Given the description of an element on the screen output the (x, y) to click on. 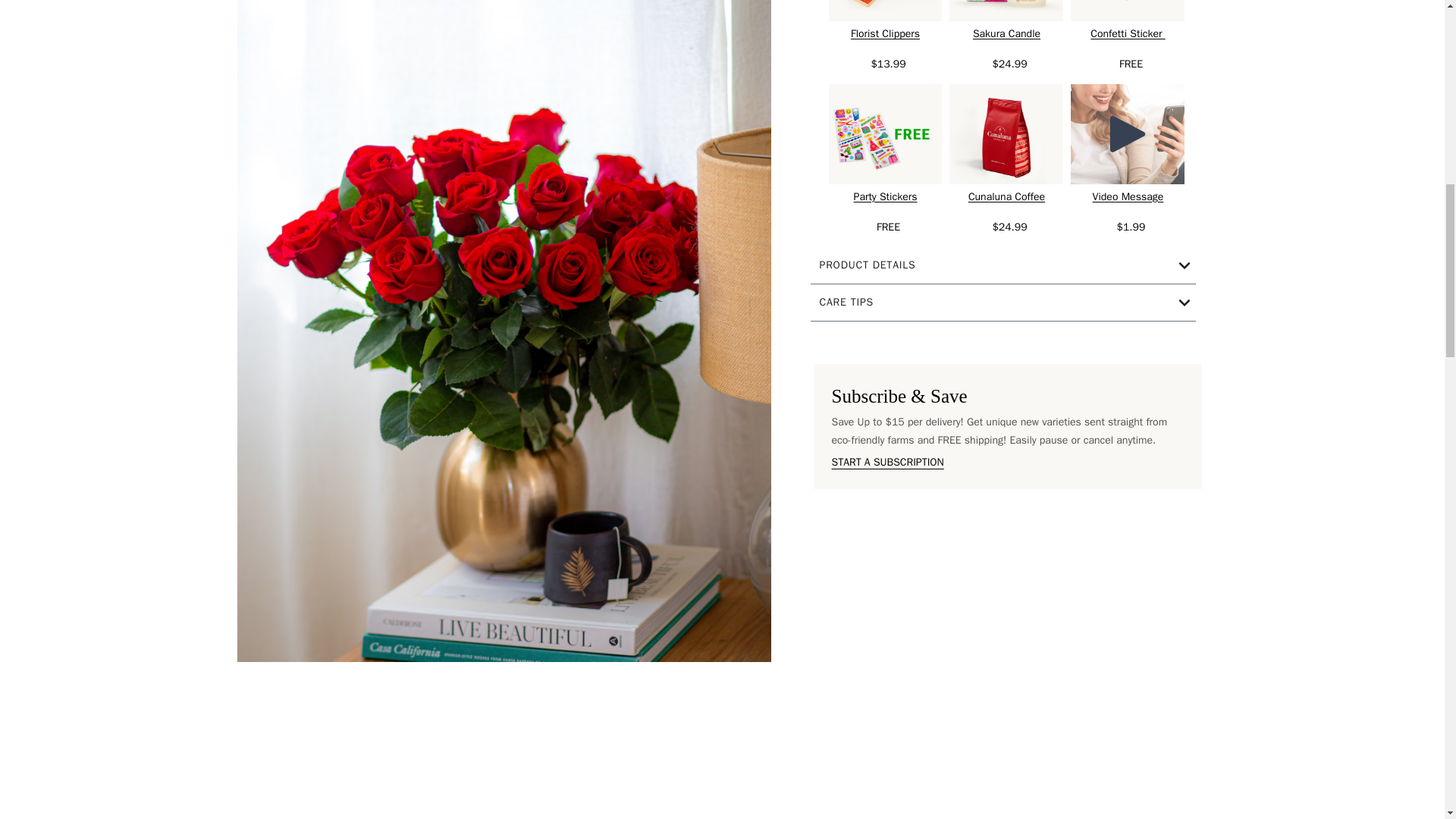
START A SUBSCRIPTION (887, 461)
